Given the description of an element on the screen output the (x, y) to click on. 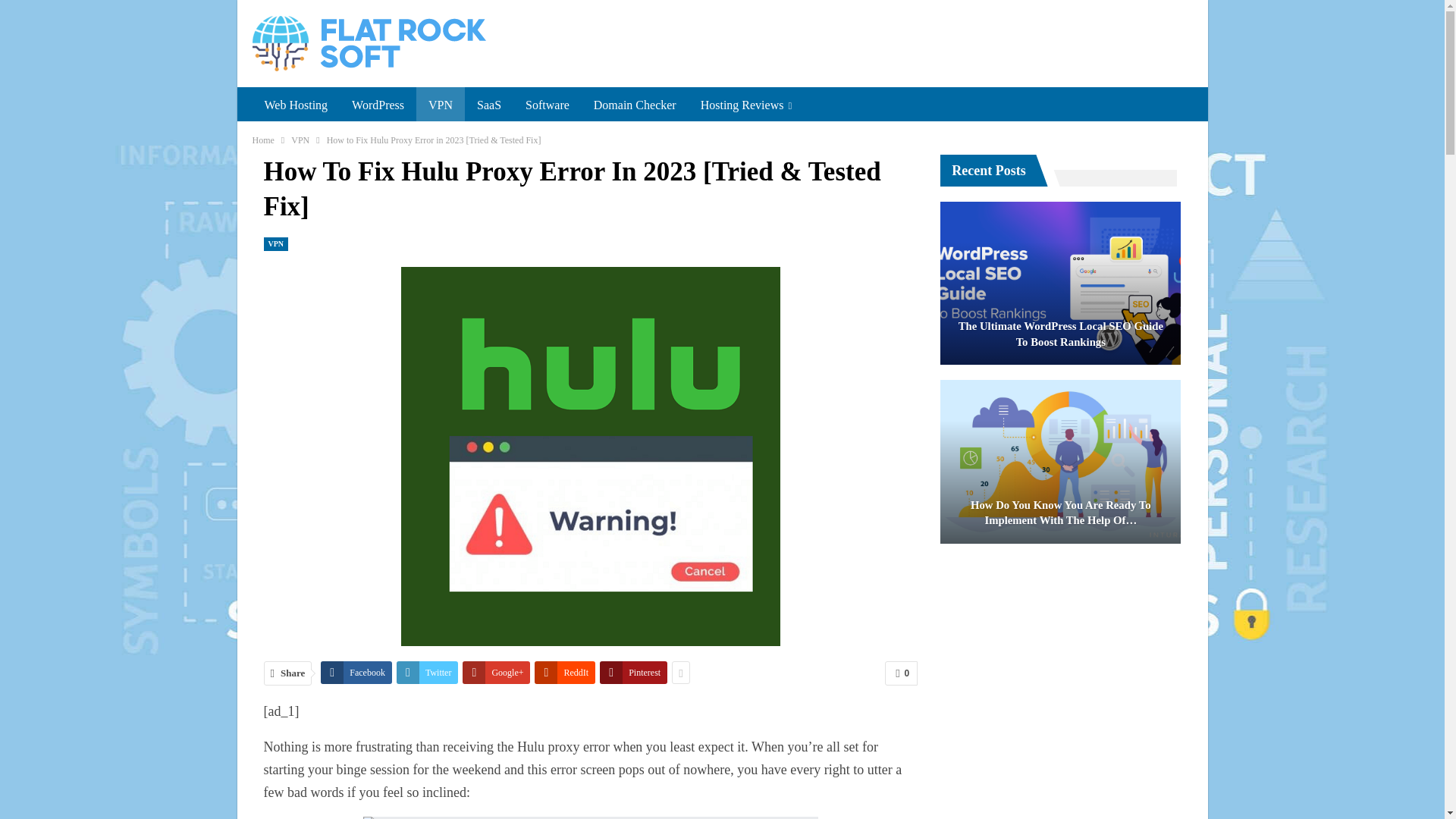
Web Hosting (295, 104)
Software (546, 104)
ReddIt (564, 671)
WordPress (377, 104)
The Ultimate WordPress Local SEO Guide to Boost Rankings (1060, 283)
Twitter (427, 671)
Hosting Reviews (746, 104)
VPN (299, 139)
VPN (275, 243)
VPN (440, 104)
0 (901, 672)
Domain Checker (634, 104)
Facebook (355, 671)
SaaS (488, 104)
Home (262, 139)
